Given the description of an element on the screen output the (x, y) to click on. 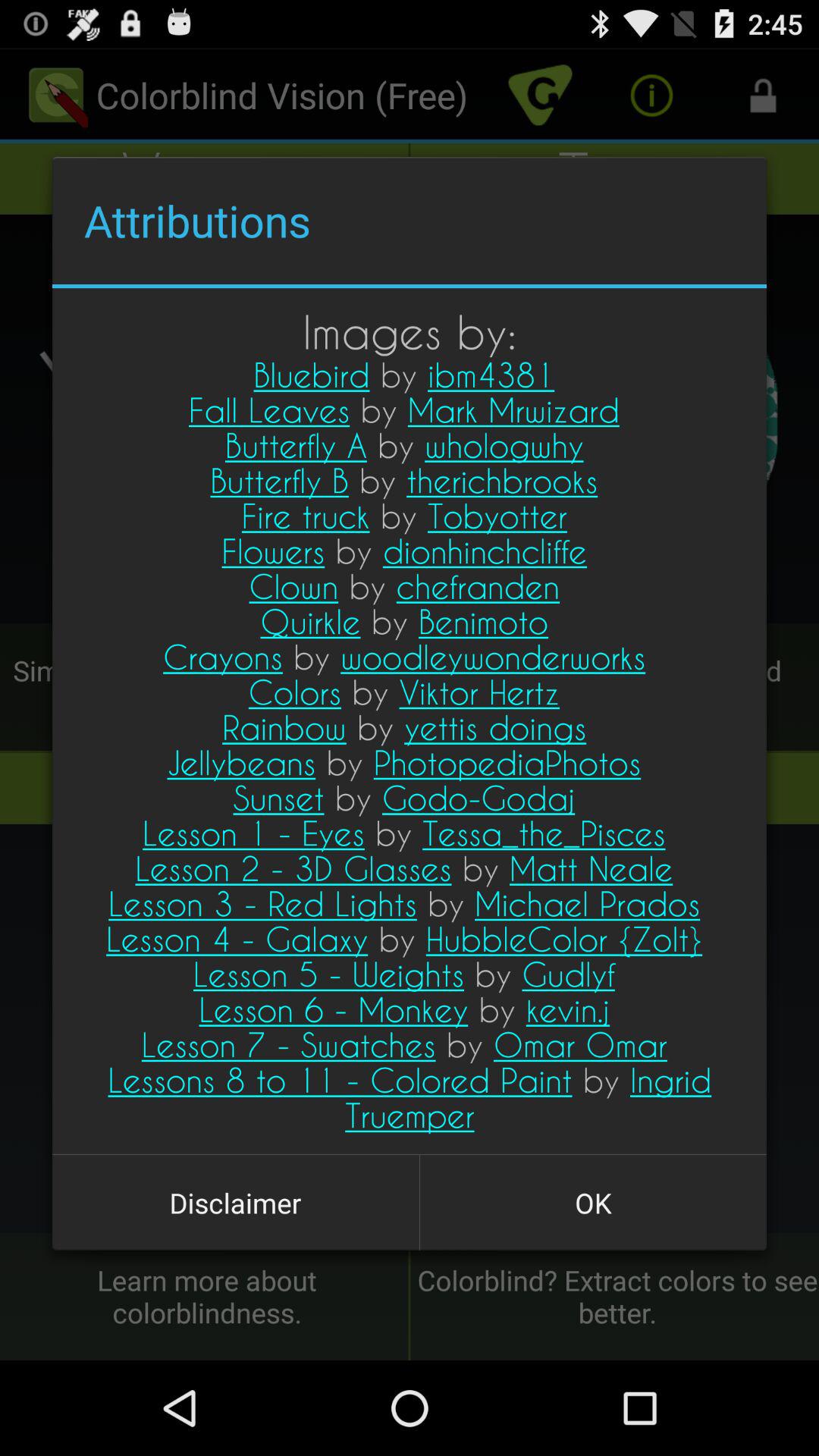
turn off icon next to the ok item (235, 1202)
